Given the description of an element on the screen output the (x, y) to click on. 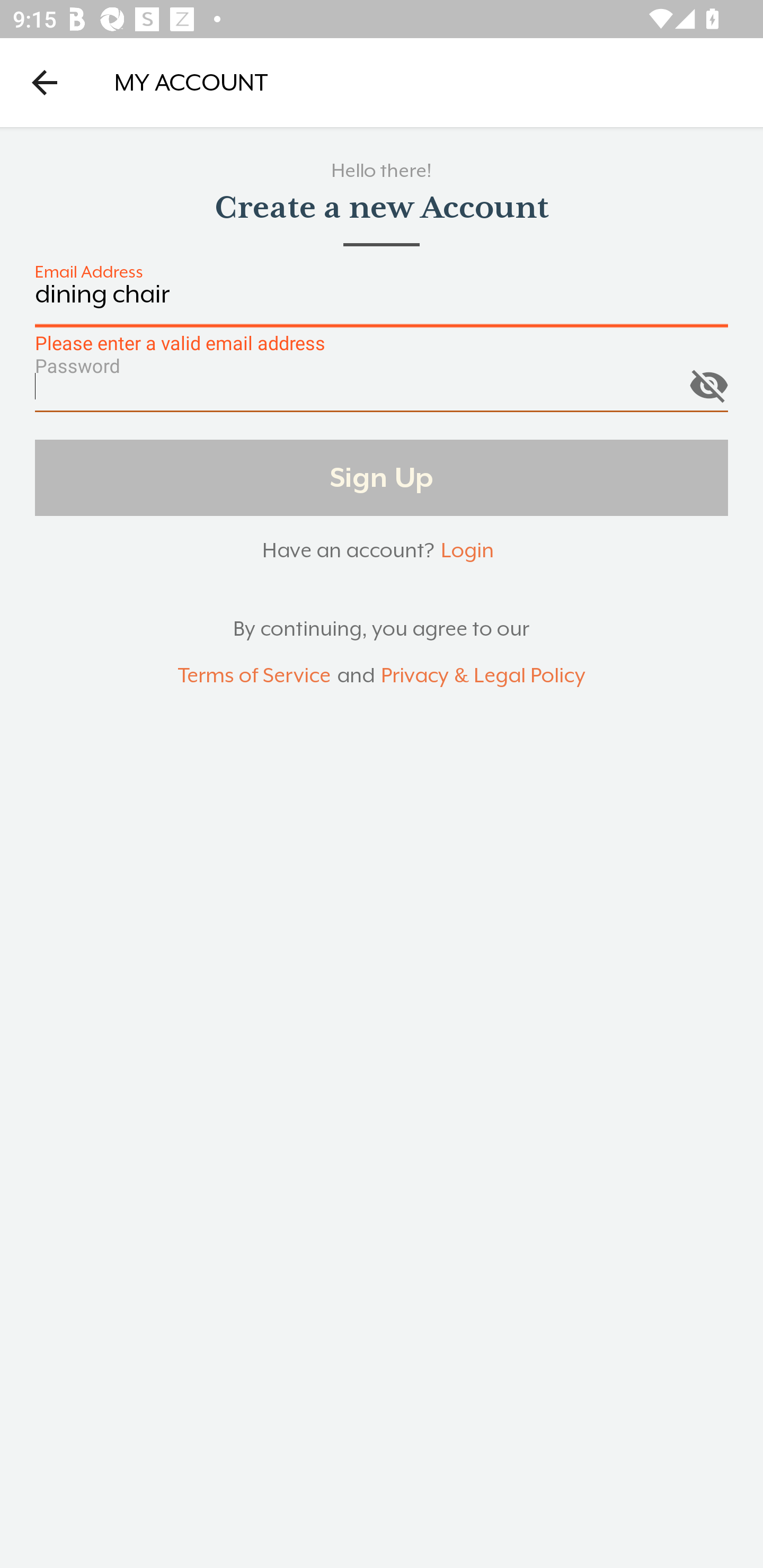
Navigate up (44, 82)
dining chair (381, 304)
 (708, 381)
Password (381, 393)
Sign Up (381, 477)
Login (467, 550)
Terms of Service (253, 675)
Privacy & Legal Policy (483, 675)
